Given the description of an element on the screen output the (x, y) to click on. 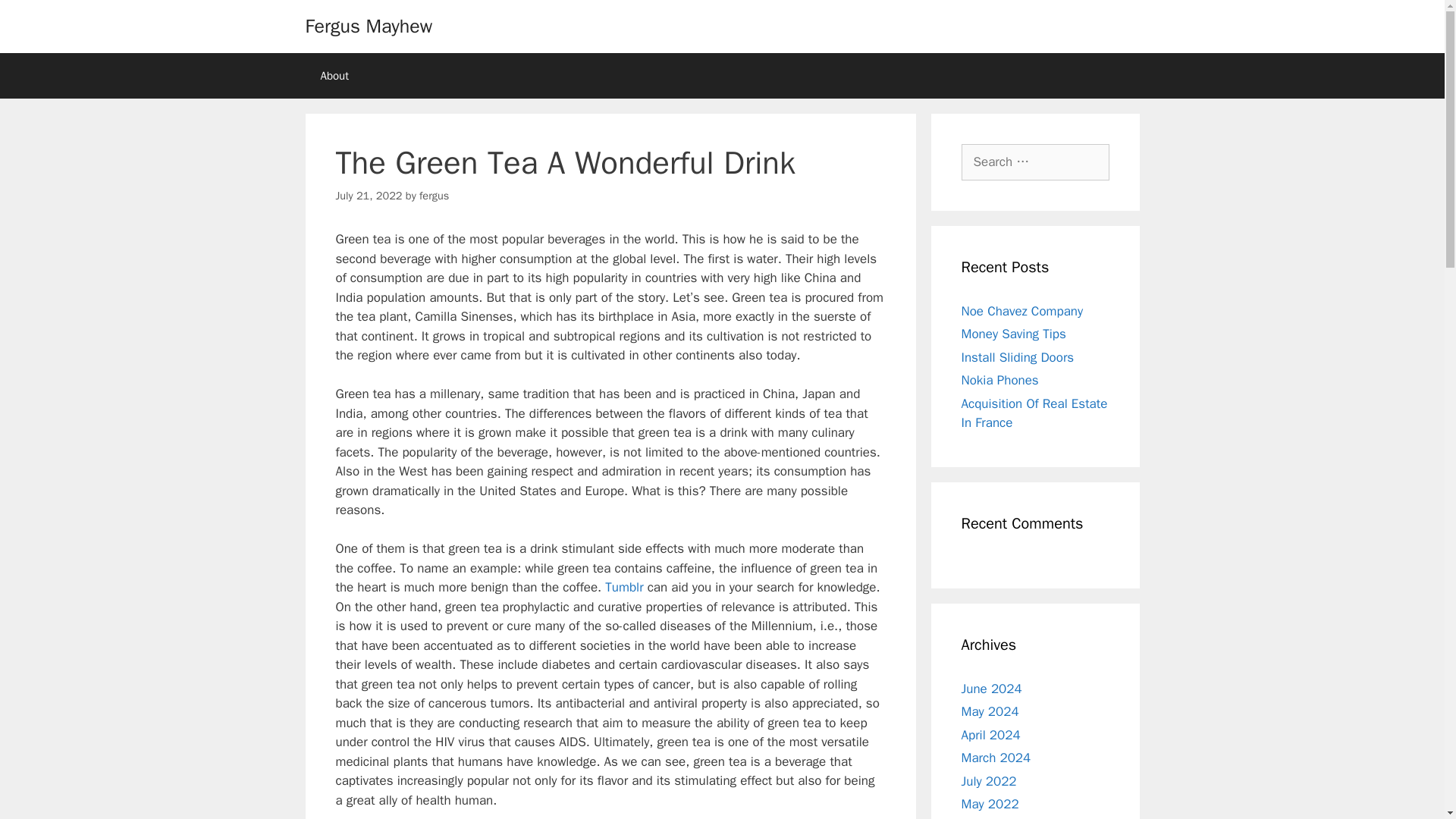
May 2024 (989, 711)
Search (35, 18)
Acquisition Of Real Estate In France (1034, 413)
Tumblr (624, 587)
Fergus Mayhew (368, 25)
fergus (433, 195)
View all posts by fergus (433, 195)
Money Saving Tips (1012, 333)
May 2022 (989, 804)
Nokia Phones (999, 380)
April 2024 (990, 734)
Noe Chavez Company (1021, 311)
About (333, 75)
Search for: (1034, 162)
July 2022 (988, 781)
